Given the description of an element on the screen output the (x, y) to click on. 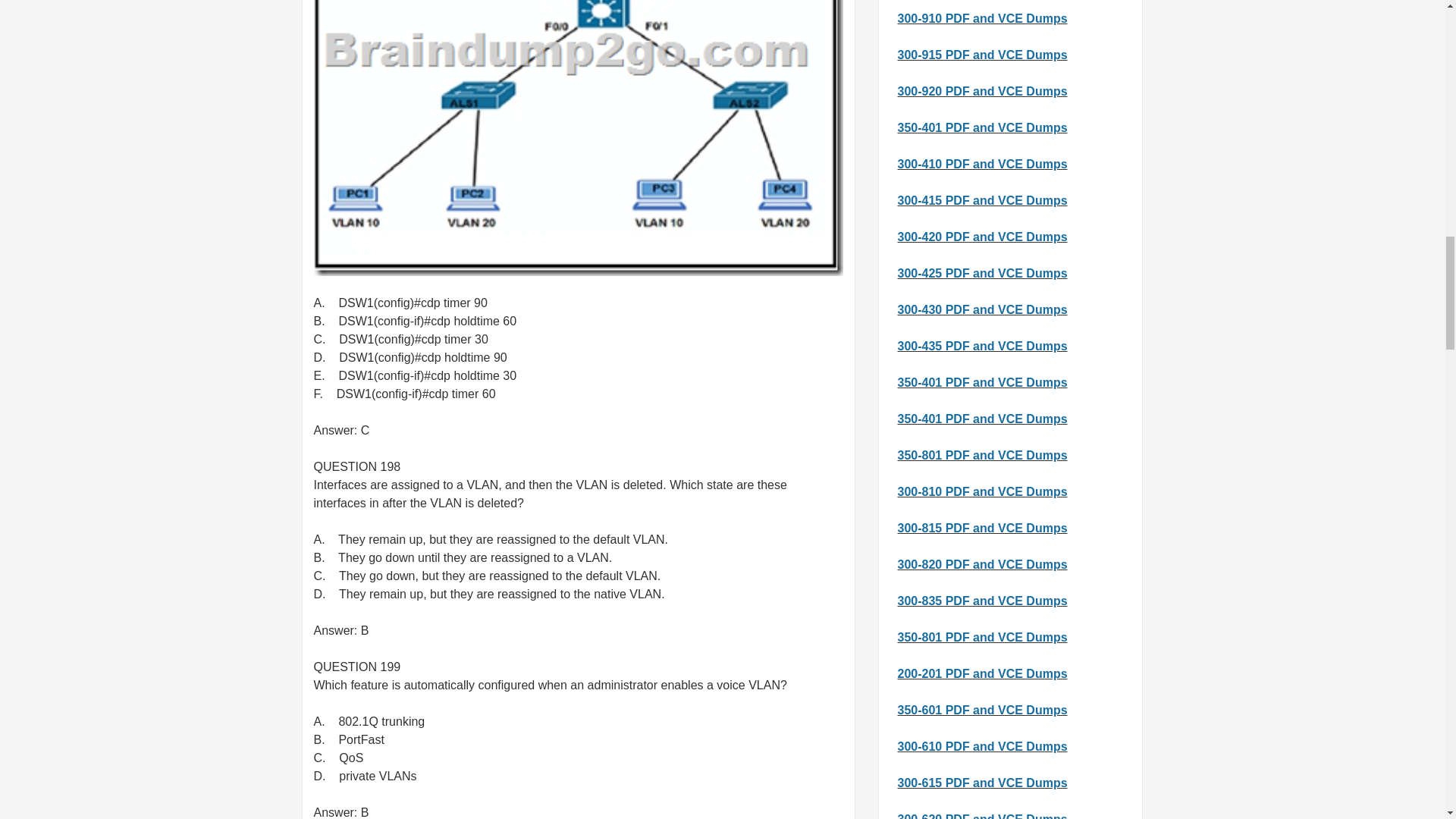
300-915 PDF and VCE Dumps (982, 54)
300-910 PDF and VCE Dumps (982, 18)
